Given the description of an element on the screen output the (x, y) to click on. 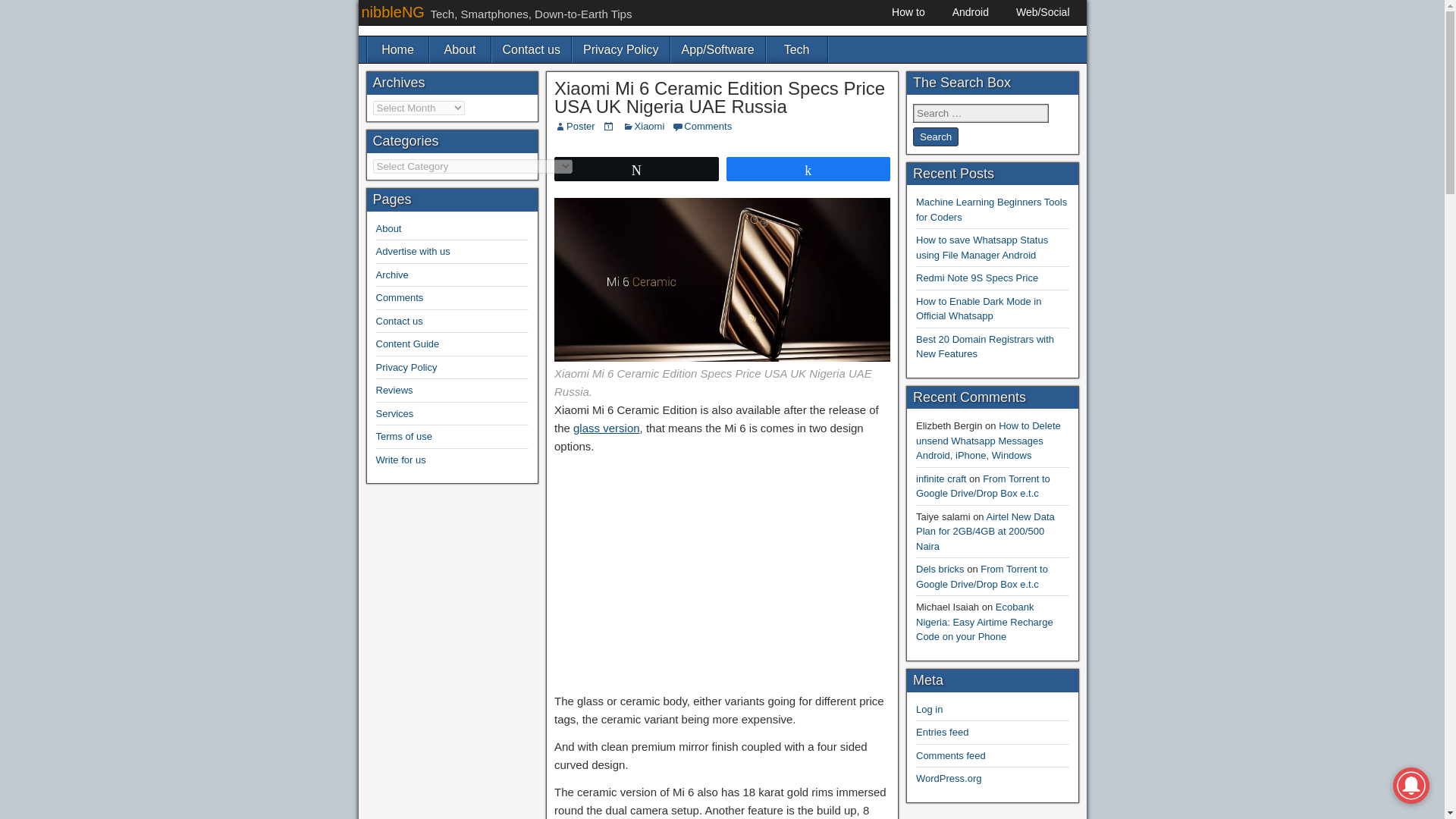
Comments (708, 125)
Home (397, 49)
Advertisement (721, 571)
Archive (392, 274)
Android (971, 12)
Contact us (531, 49)
Tech (797, 49)
Xiaomi (649, 125)
Search (935, 136)
Search (935, 136)
About (459, 49)
Poster (580, 125)
nibbleNG (392, 12)
glass version (606, 427)
